Given the description of an element on the screen output the (x, y) to click on. 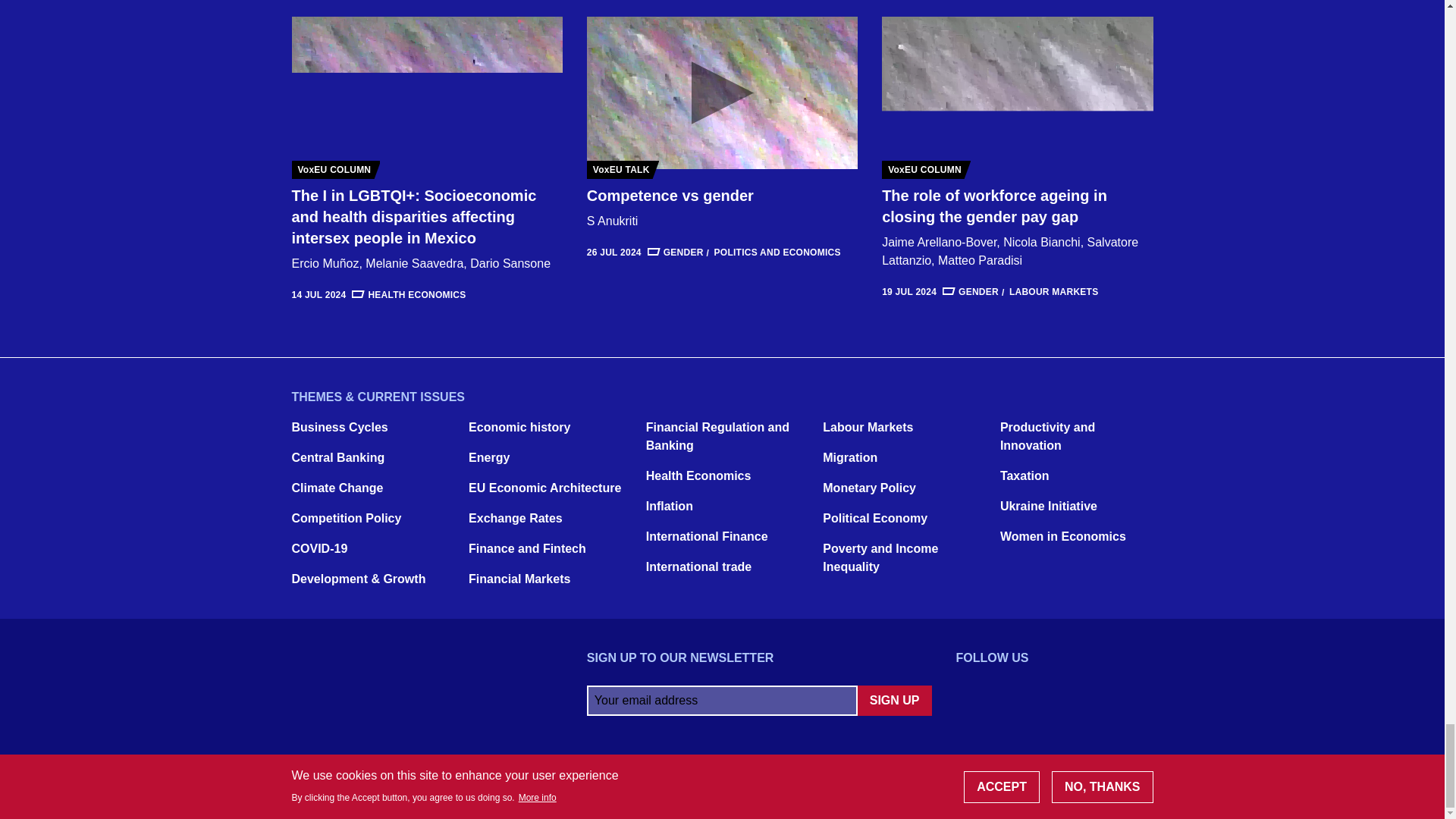
sign up (894, 700)
